Given the description of an element on the screen output the (x, y) to click on. 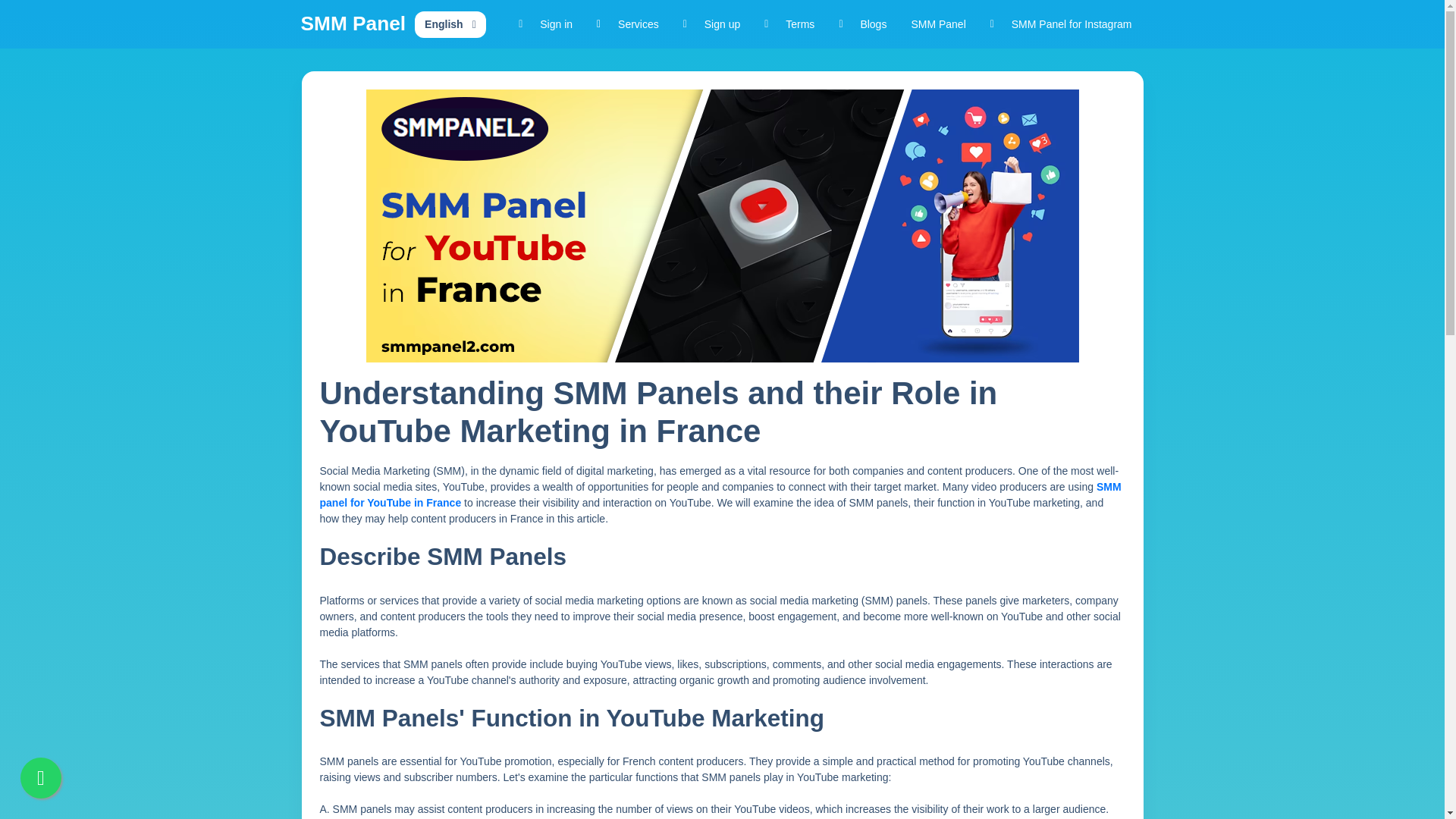
SMM Panel (352, 23)
Terms (789, 24)
SMM Panel for Instagram (1061, 24)
SMM Panel (937, 24)
SMM panel for YouTube in France (720, 494)
Blogs (862, 24)
Sign in (545, 24)
Sign up (711, 24)
Services (628, 24)
